Given the description of an element on the screen output the (x, y) to click on. 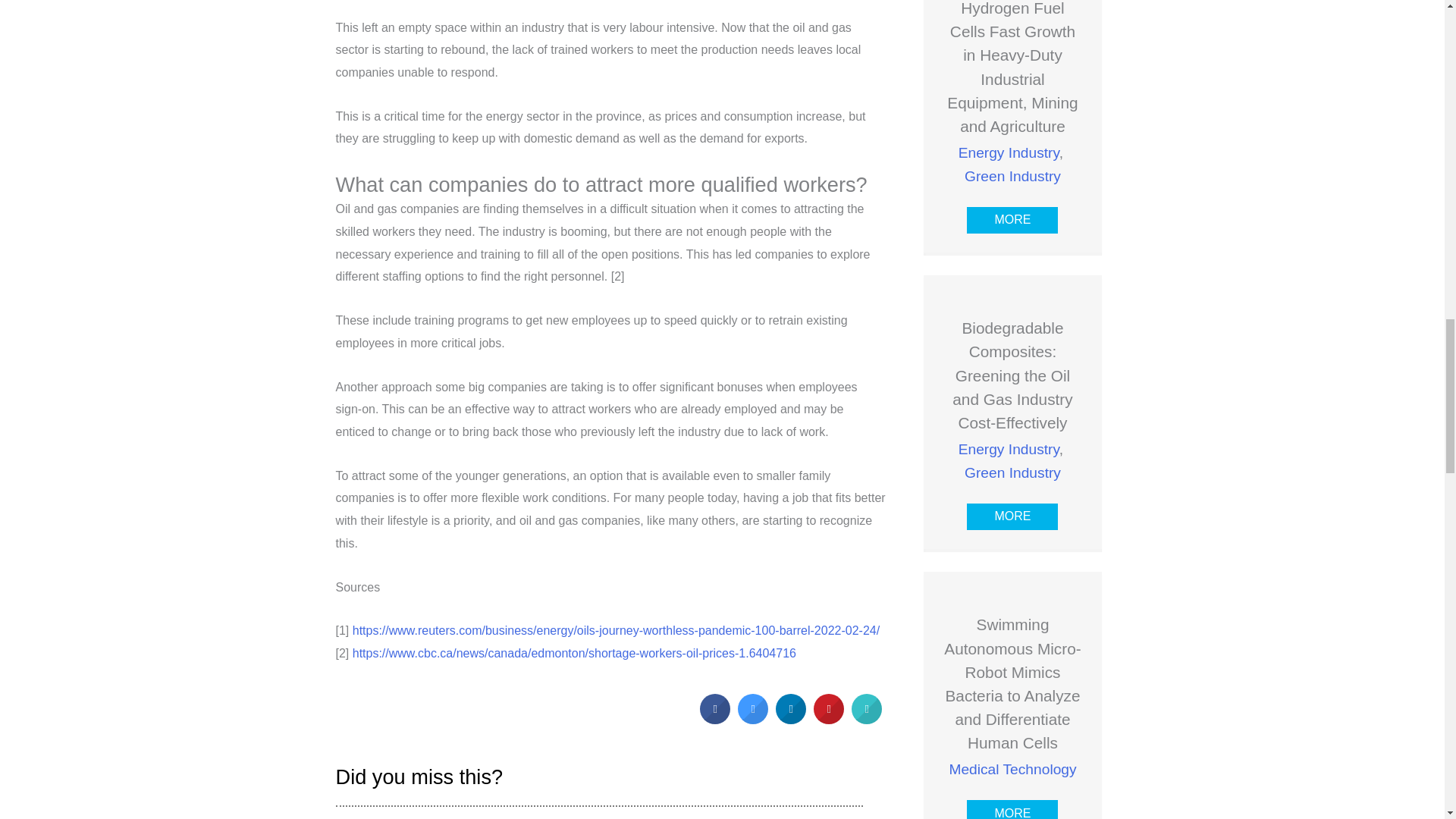
Print this page (866, 719)
Share on Twitter (753, 719)
Share to LinkedIn (791, 719)
Share on Facebook (715, 719)
Share on Pinterest (828, 719)
